Given the description of an element on the screen output the (x, y) to click on. 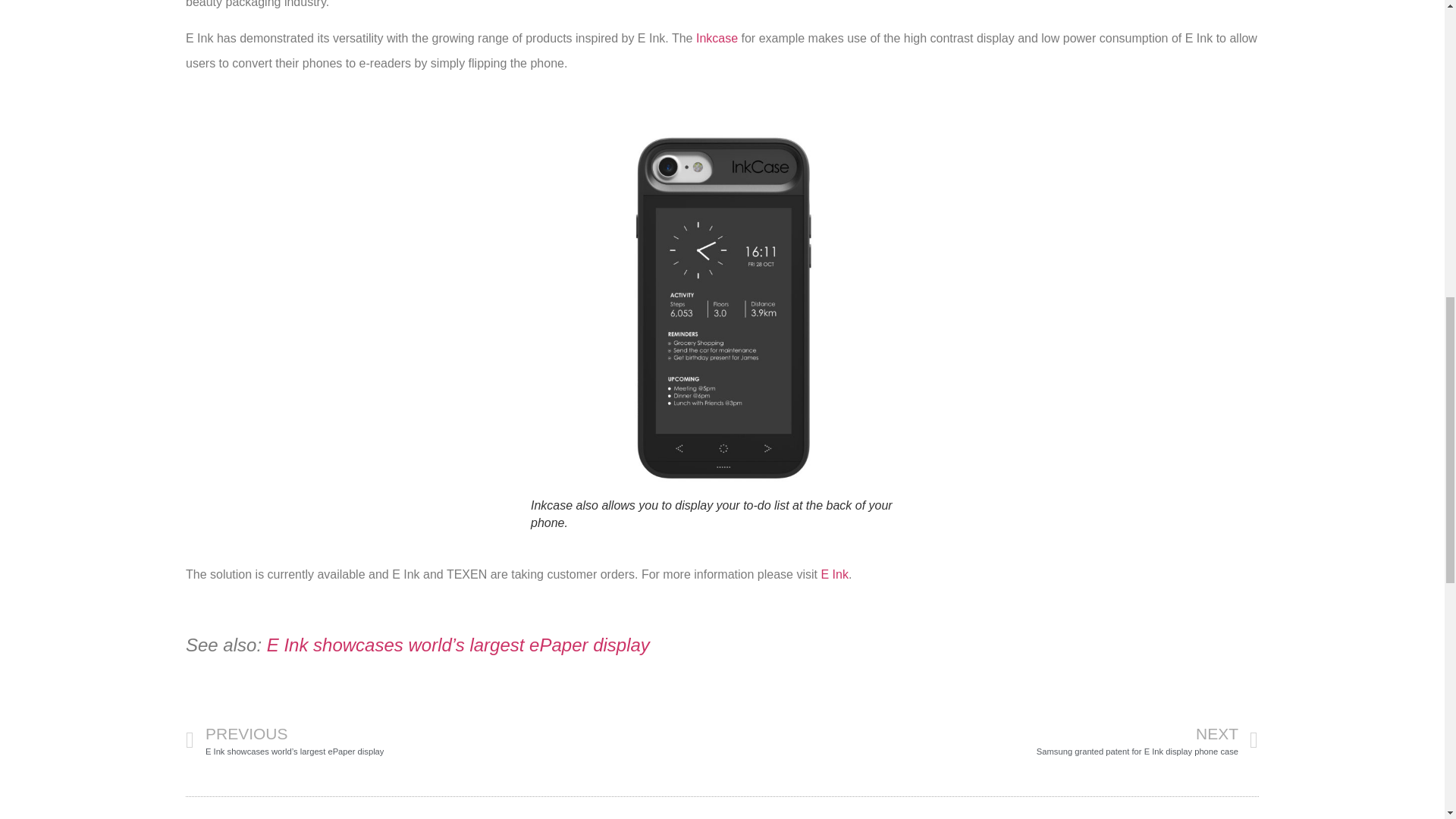
E Ink (989, 739)
Inkcase (834, 574)
